Given the description of an element on the screen output the (x, y) to click on. 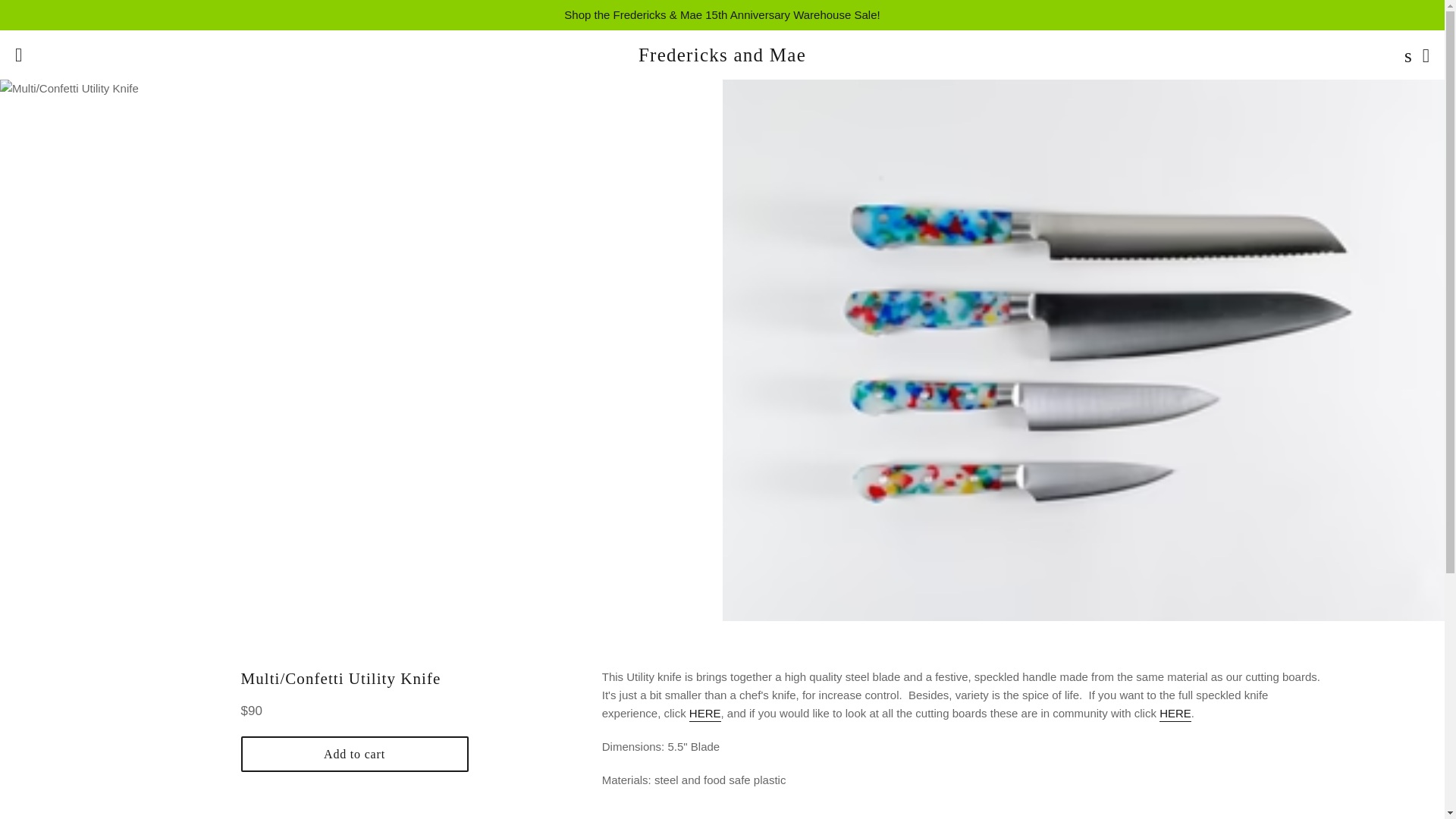
HERE (704, 713)
Add to cart (354, 754)
Fredericks and Mae (722, 54)
HERE (1174, 713)
Cutting Board Collection (1174, 713)
